Given the description of an element on the screen output the (x, y) to click on. 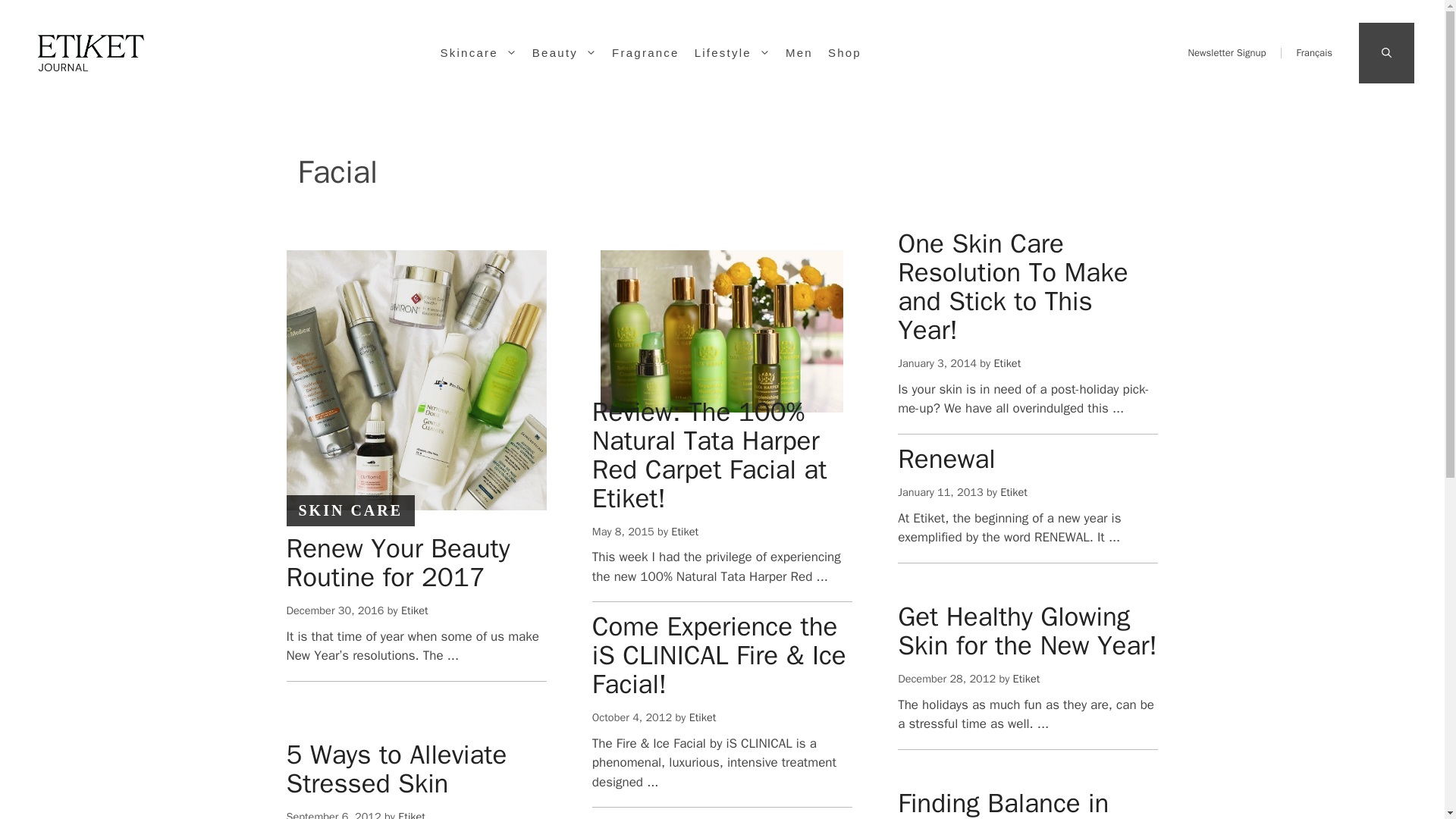
Beauty (571, 53)
Newsletter Signup (1226, 52)
Fragrance (652, 53)
Lifestyle (740, 53)
View all posts by Etiket (414, 610)
SKIN CARE (350, 510)
Men (807, 53)
Shop (852, 53)
View all posts by Etiket (1006, 363)
Skincare (485, 53)
View all posts by Etiket (1013, 491)
View all posts by Etiket (684, 531)
